Given the description of an element on the screen output the (x, y) to click on. 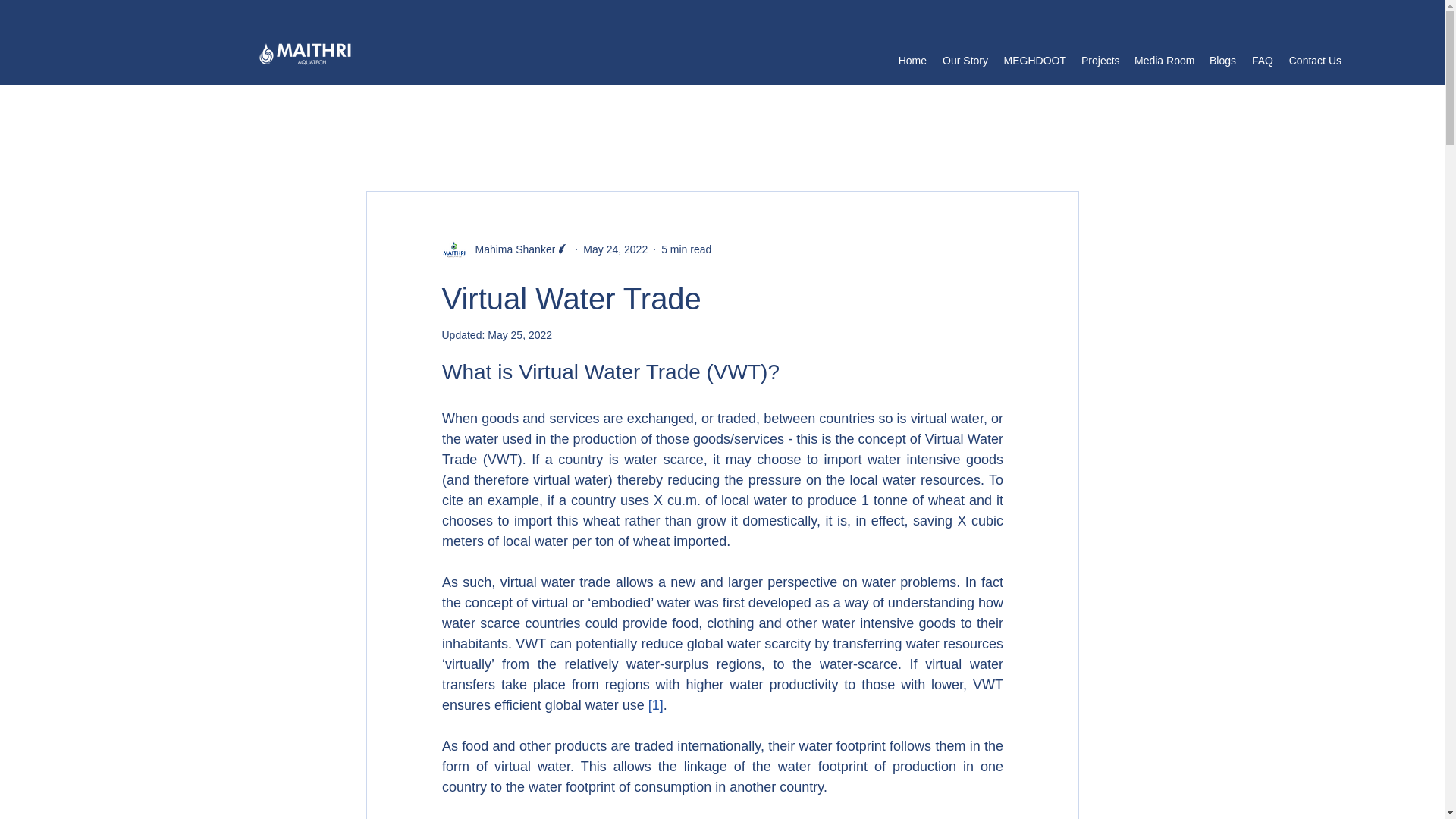
5 min read (686, 248)
May 25, 2022 (519, 335)
Media Room (1164, 60)
May 24, 2022 (615, 248)
Projects (1100, 60)
Home (911, 60)
Our Story (964, 60)
Blogs (1222, 60)
Contact Us (1315, 60)
Mahima Shanker (509, 248)
MEGHDOOT (1034, 60)
FAQ (1262, 60)
No (304, 53)
